Given the description of an element on the screen output the (x, y) to click on. 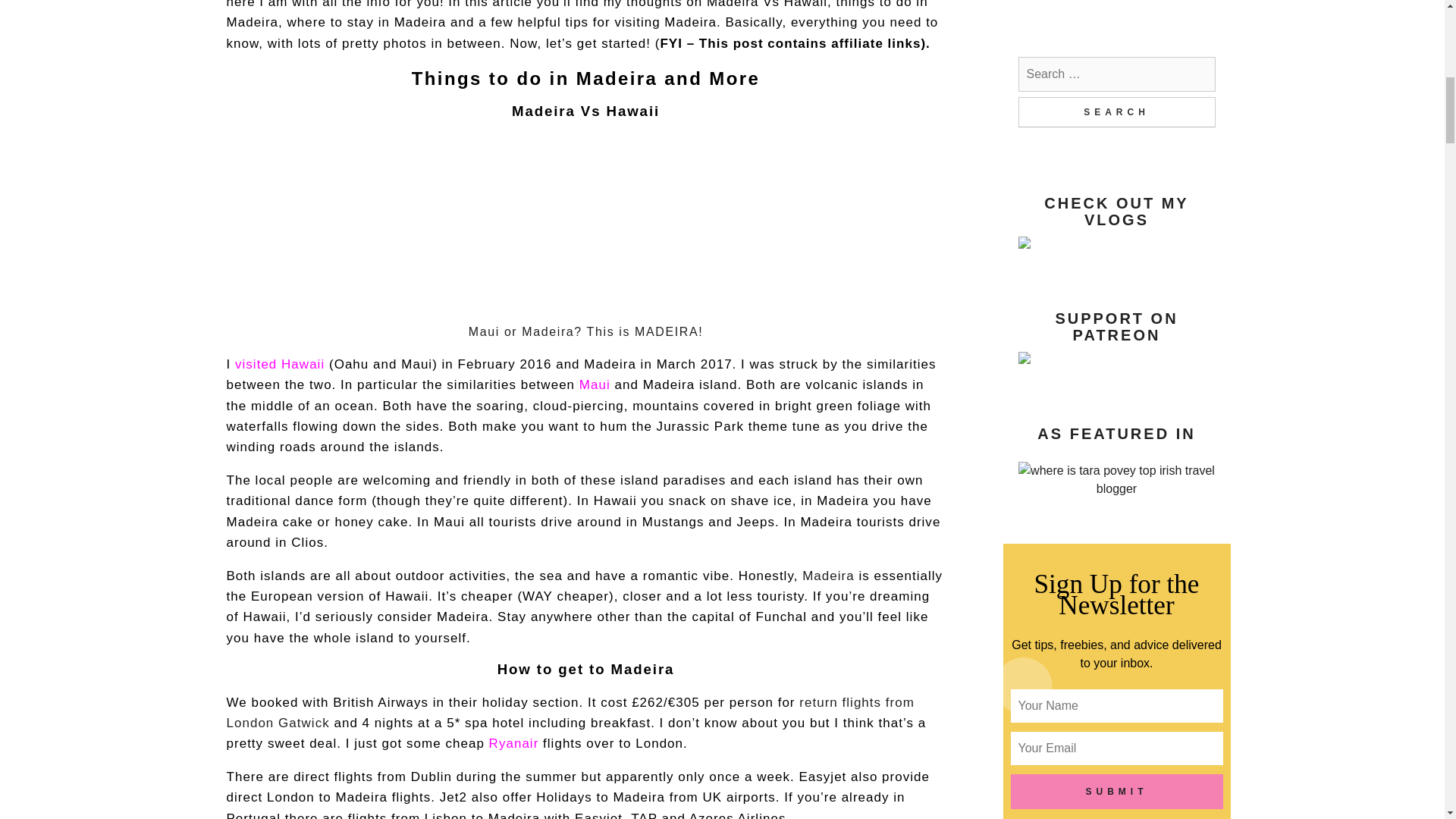
Search (1115, 112)
Search (1115, 112)
Submit (1116, 791)
